Given the description of an element on the screen output the (x, y) to click on. 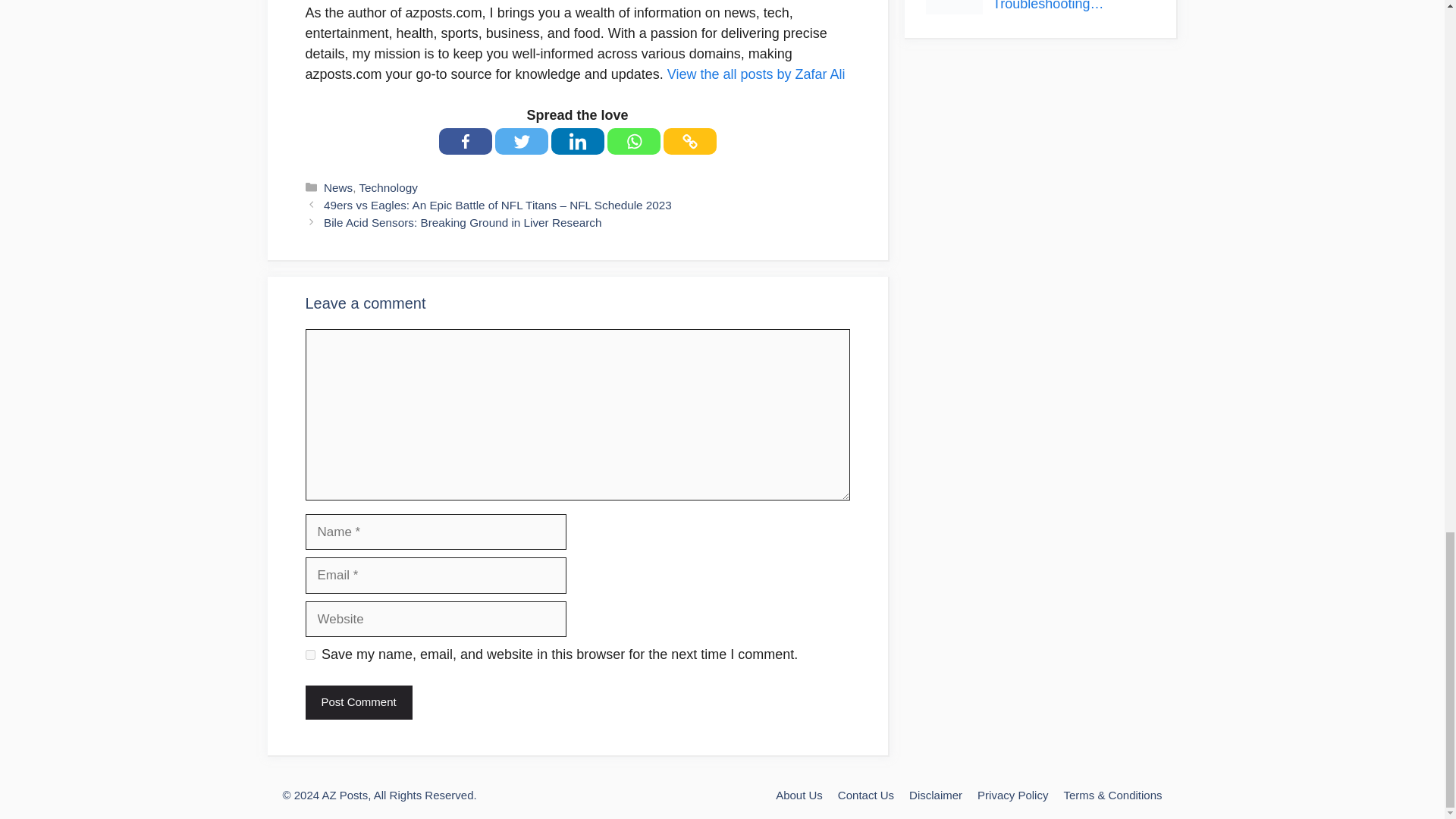
yes (309, 655)
Scroll back to top (1406, 2)
Technology (387, 187)
News (337, 187)
View the all posts by Zafar Ali (755, 73)
Facebook (465, 140)
Bile Acid Sensors: Breaking Ground in Liver Research (462, 222)
Whatsapp (633, 140)
Post Comment (358, 702)
Linkedin (577, 140)
Post Comment (358, 702)
Copy Link (689, 140)
Twitter (521, 140)
